Given the description of an element on the screen output the (x, y) to click on. 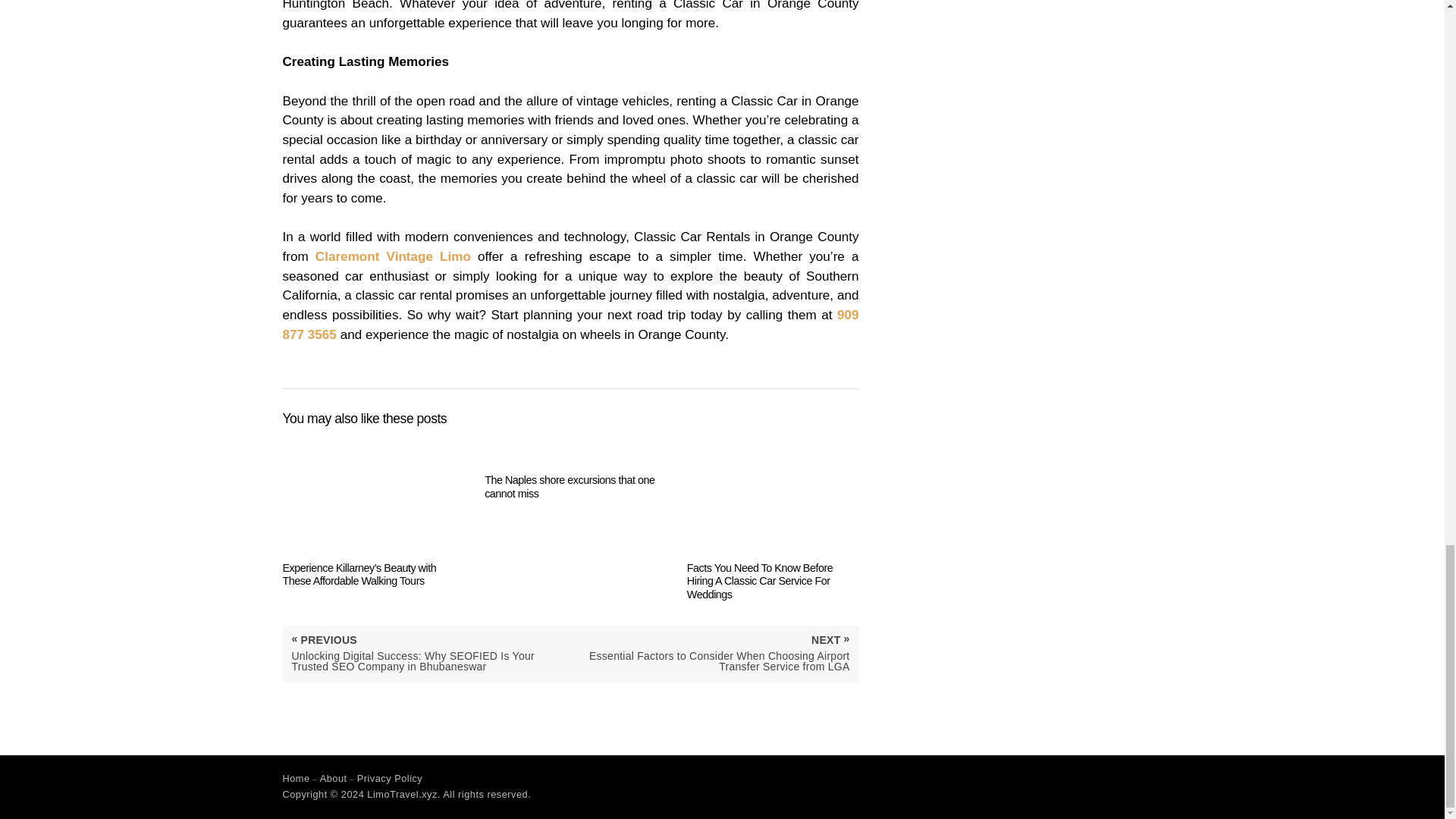
Home (295, 778)
Claremont Vintage Limo (392, 256)
The Naples shore excursions that one cannot miss (570, 467)
About (333, 778)
909 877 3565 (570, 324)
Privacy Policy (389, 778)
The Naples shore excursions that one cannot miss (570, 467)
